Given the description of an element on the screen output the (x, y) to click on. 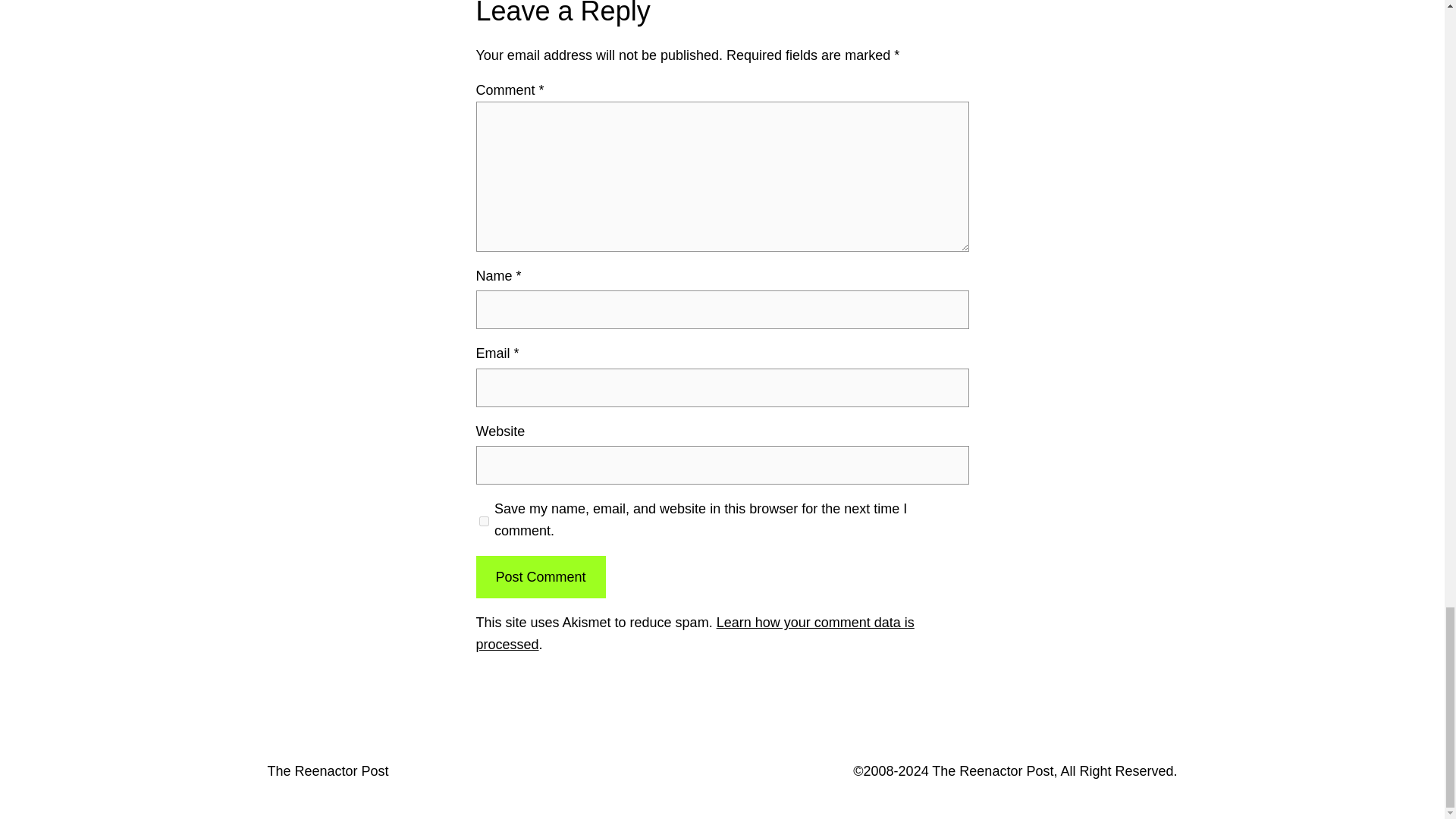
Post Comment (540, 577)
Learn how your comment data is processed (695, 633)
Post Comment (540, 577)
The Reenactor Post (327, 770)
